Given the description of an element on the screen output the (x, y) to click on. 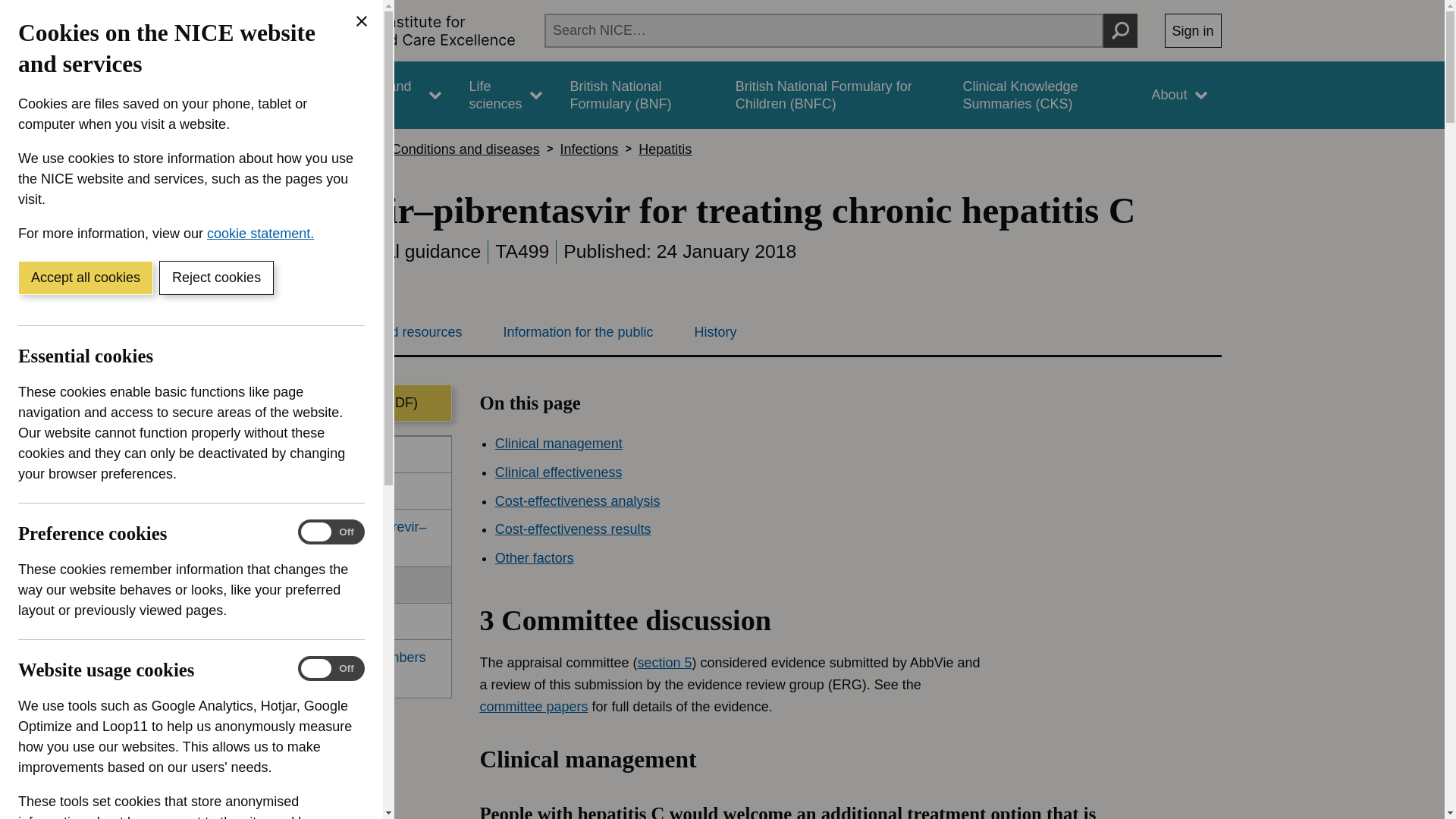
Sign in (1192, 30)
Accept all cookies (84, 277)
Clinical management (850, 781)
Guidance (265, 94)
Reject cookies (215, 277)
Standards and indicators (381, 94)
Life sciences (505, 94)
